Given the description of an element on the screen output the (x, y) to click on. 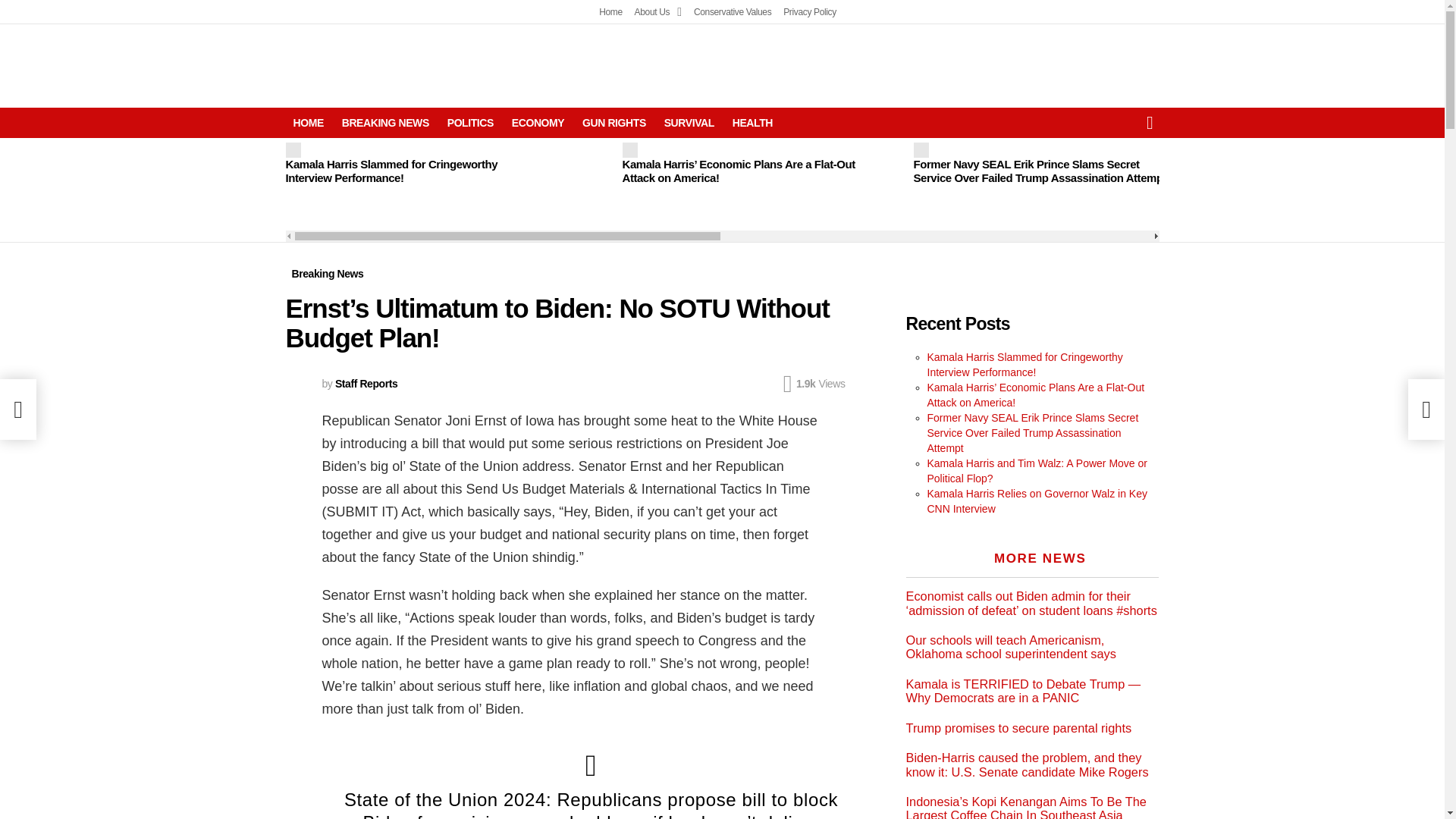
GUN RIGHTS (614, 122)
Home (610, 12)
BREAKING NEWS (385, 122)
About Us (657, 12)
Kamala Harris and Tim Walz: A Power Move or Political Flop? (1321, 171)
SURVIVAL (689, 122)
HEALTH (752, 122)
ECONOMY (537, 122)
